Given the description of an element on the screen output the (x, y) to click on. 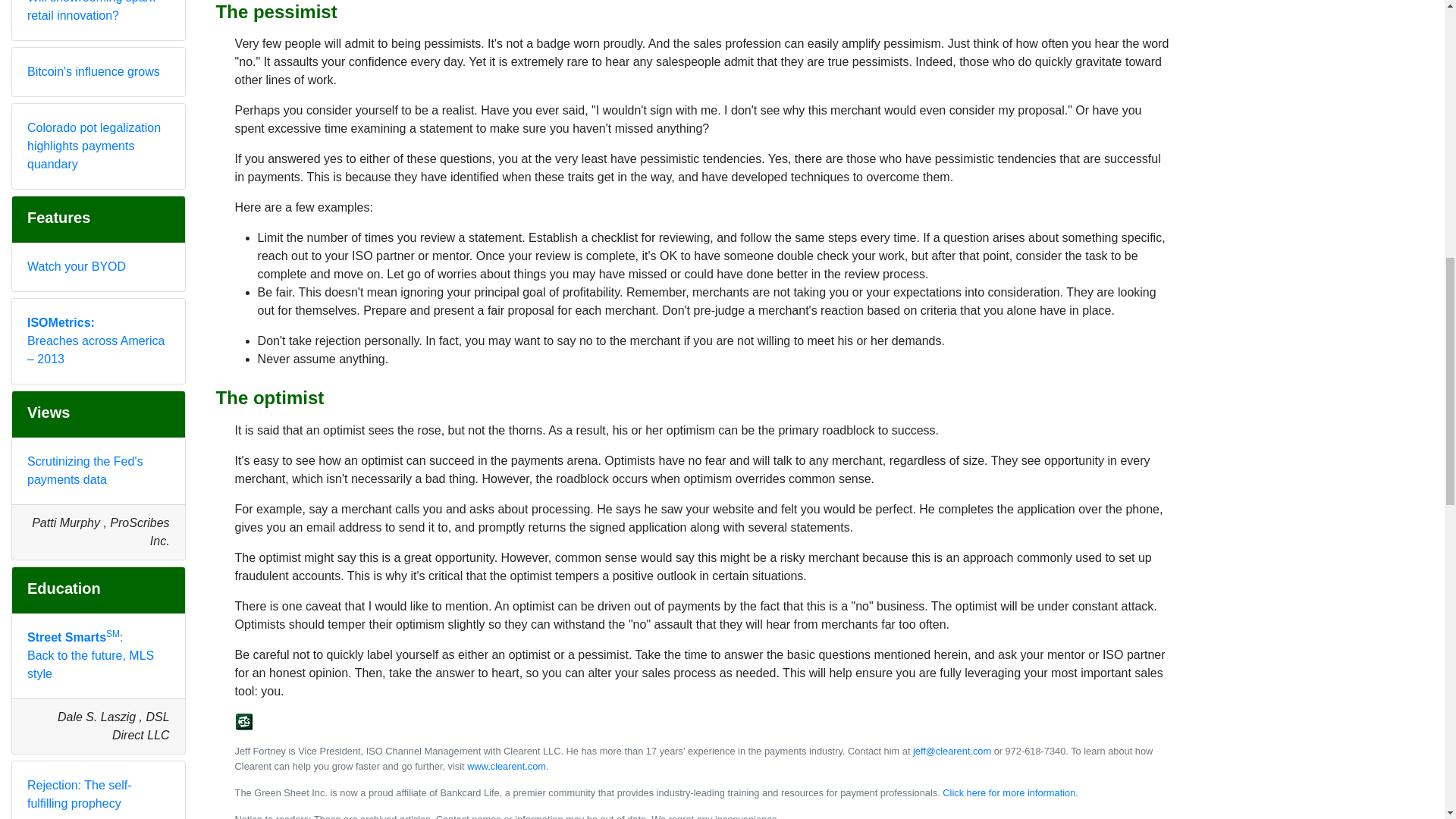
Click here for more information. (1010, 792)
www.clearent.com (506, 766)
